Given the description of an element on the screen output the (x, y) to click on. 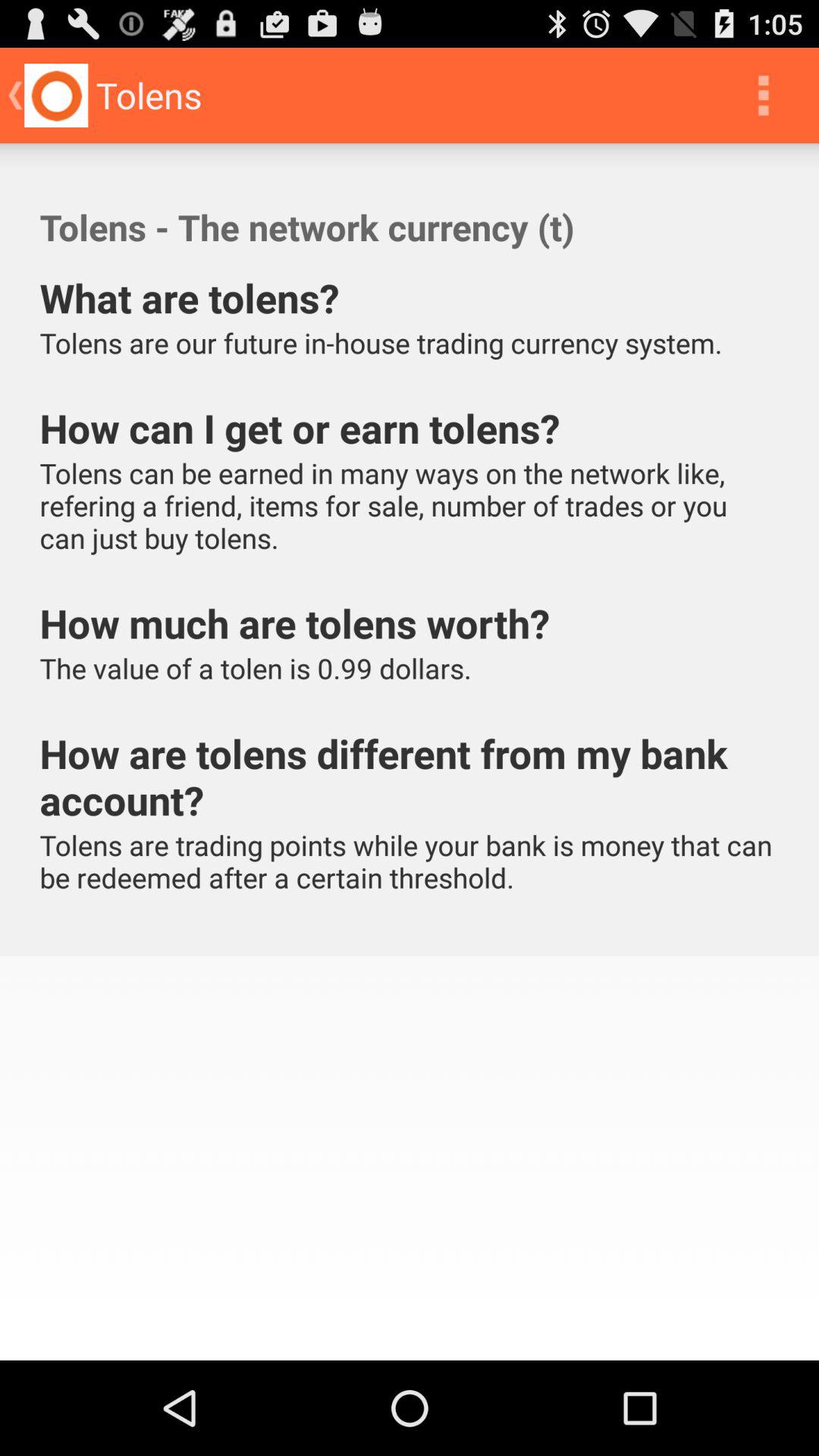
turn on the icon next to tolens app (763, 95)
